Given the description of an element on the screen output the (x, y) to click on. 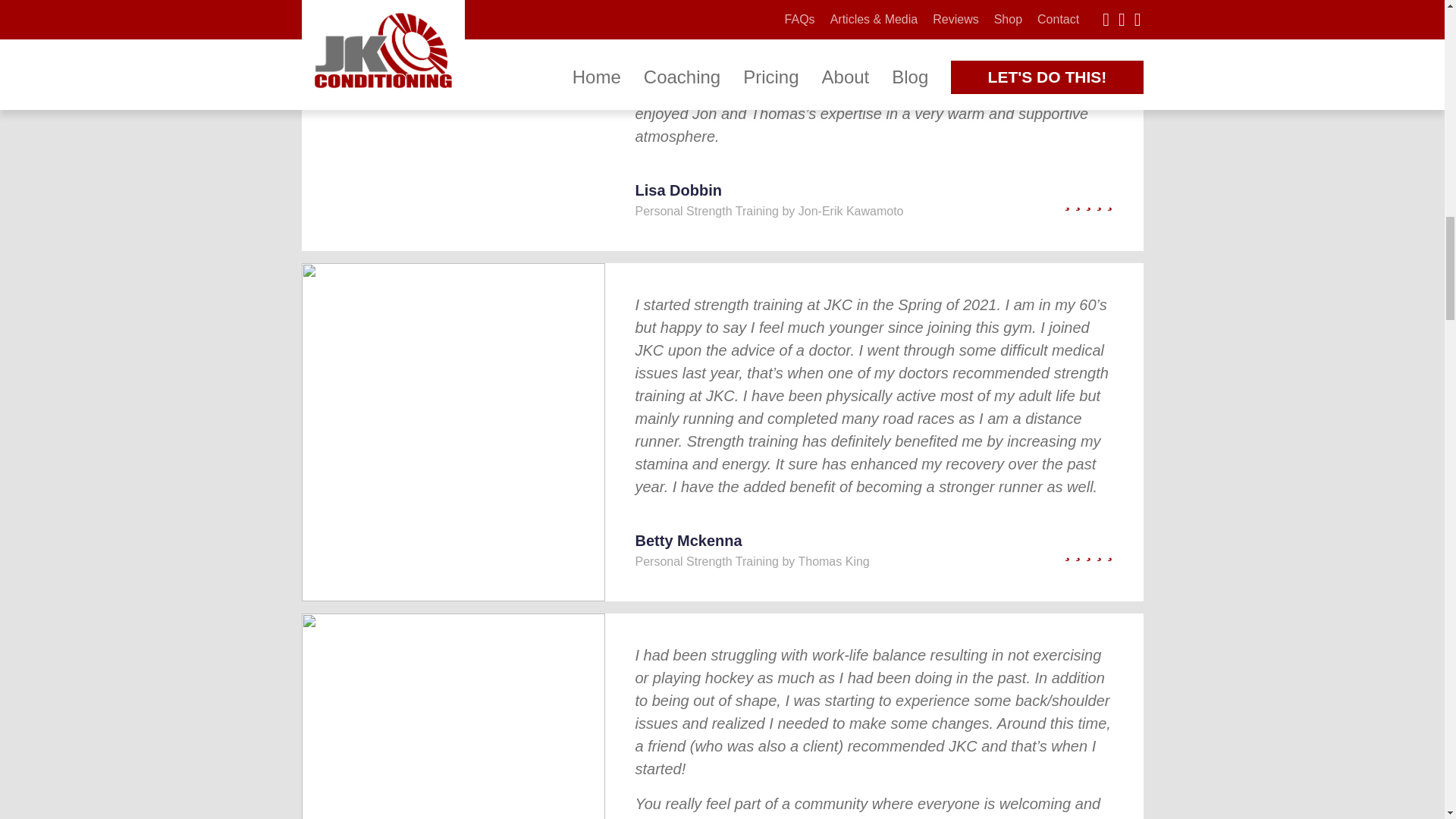
5 out of 5 Stars (1040, 551)
Jon-Erik Kawamoto (850, 210)
Personal Strength Training (706, 561)
Thomas King (833, 561)
Personal Strength Training (706, 210)
5 out of 5 Stars (1040, 200)
